Given the description of an element on the screen output the (x, y) to click on. 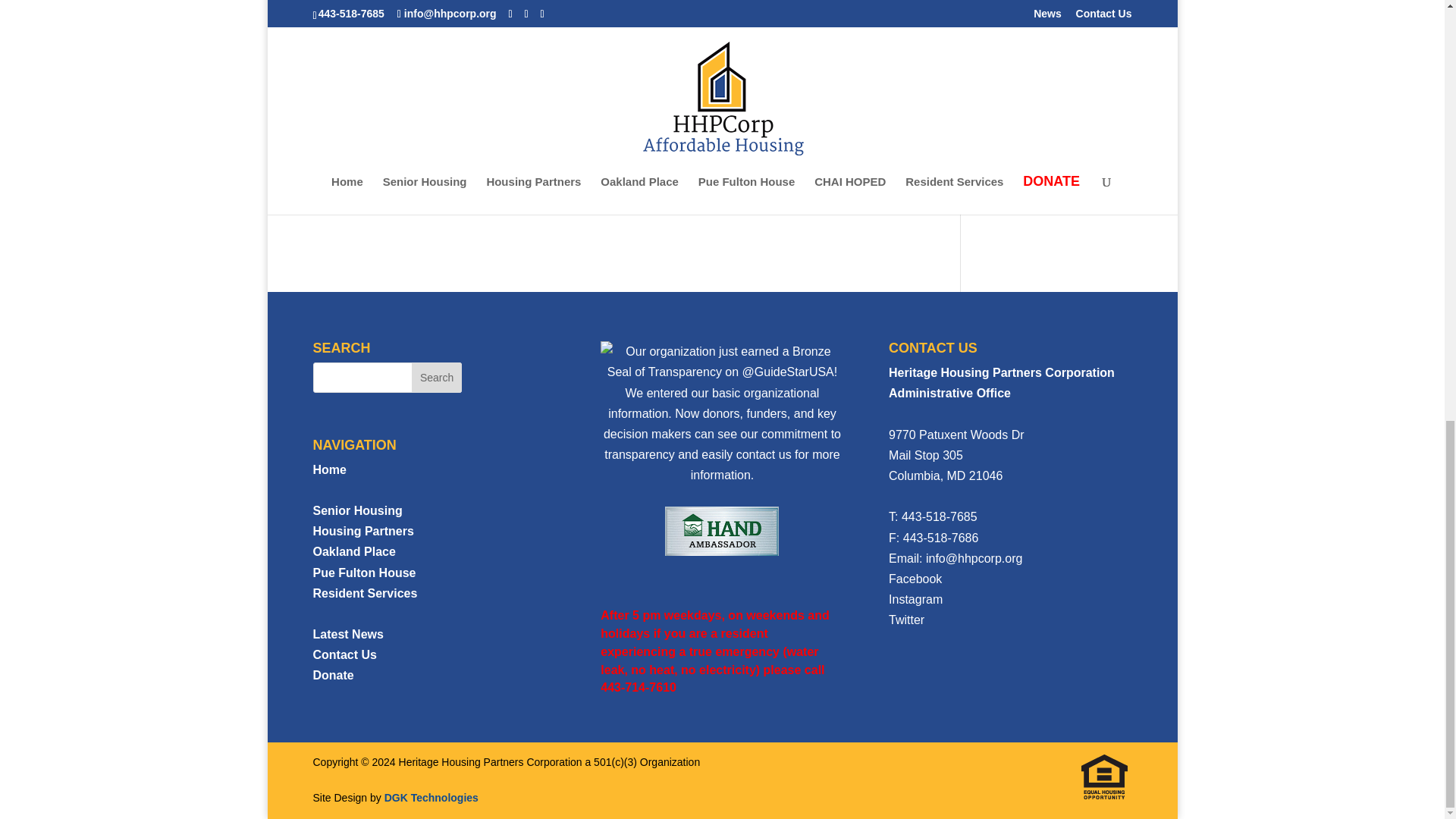
Search (436, 377)
